Given the description of an element on the screen output the (x, y) to click on. 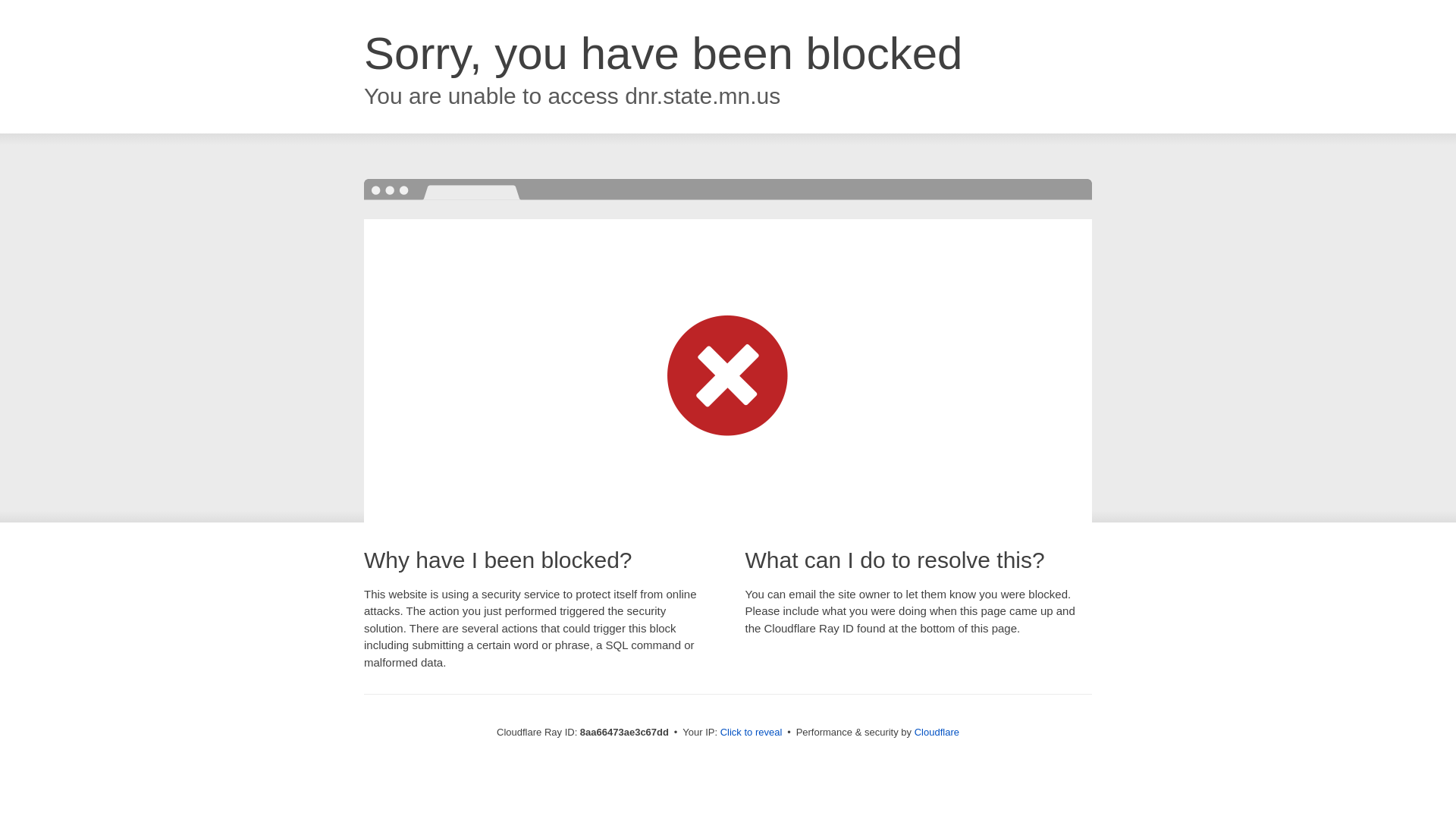
Click to reveal (751, 732)
Cloudflare (936, 731)
